Given the description of an element on the screen output the (x, y) to click on. 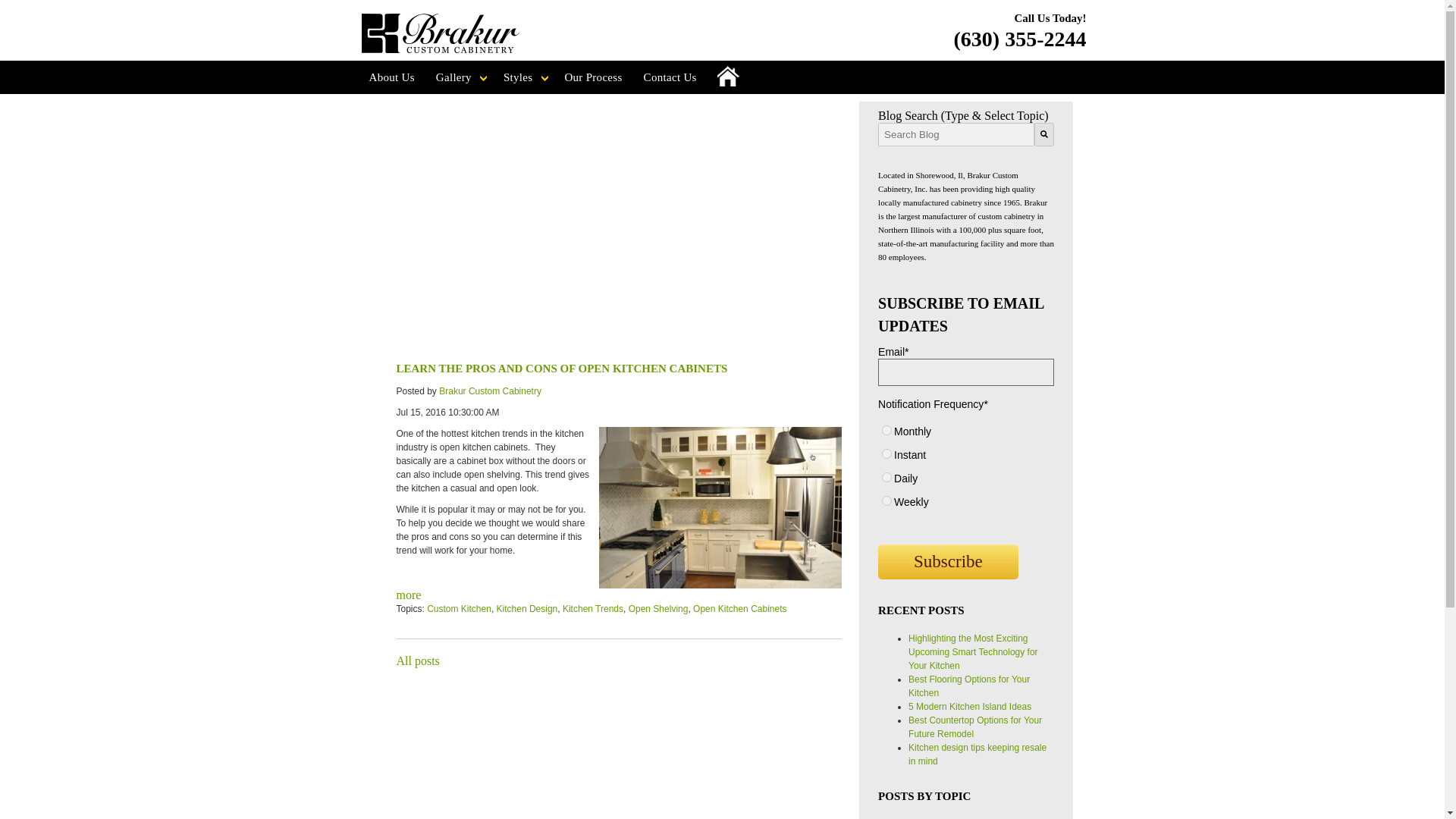
weekly (886, 501)
Our Process (592, 77)
daily (886, 477)
instant (886, 453)
more (408, 594)
Home (728, 77)
Open Kitchen Cabinets (739, 608)
Kitchen Trends (592, 608)
Best Flooring Options for Your Kitchen (968, 686)
Open Shelving (658, 608)
Brakur Custom Cabinetry (490, 390)
Subscribe (947, 561)
Custom Kitchen (459, 608)
Kitchen design tips keeping resale in mind (977, 754)
